Given the description of an element on the screen output the (x, y) to click on. 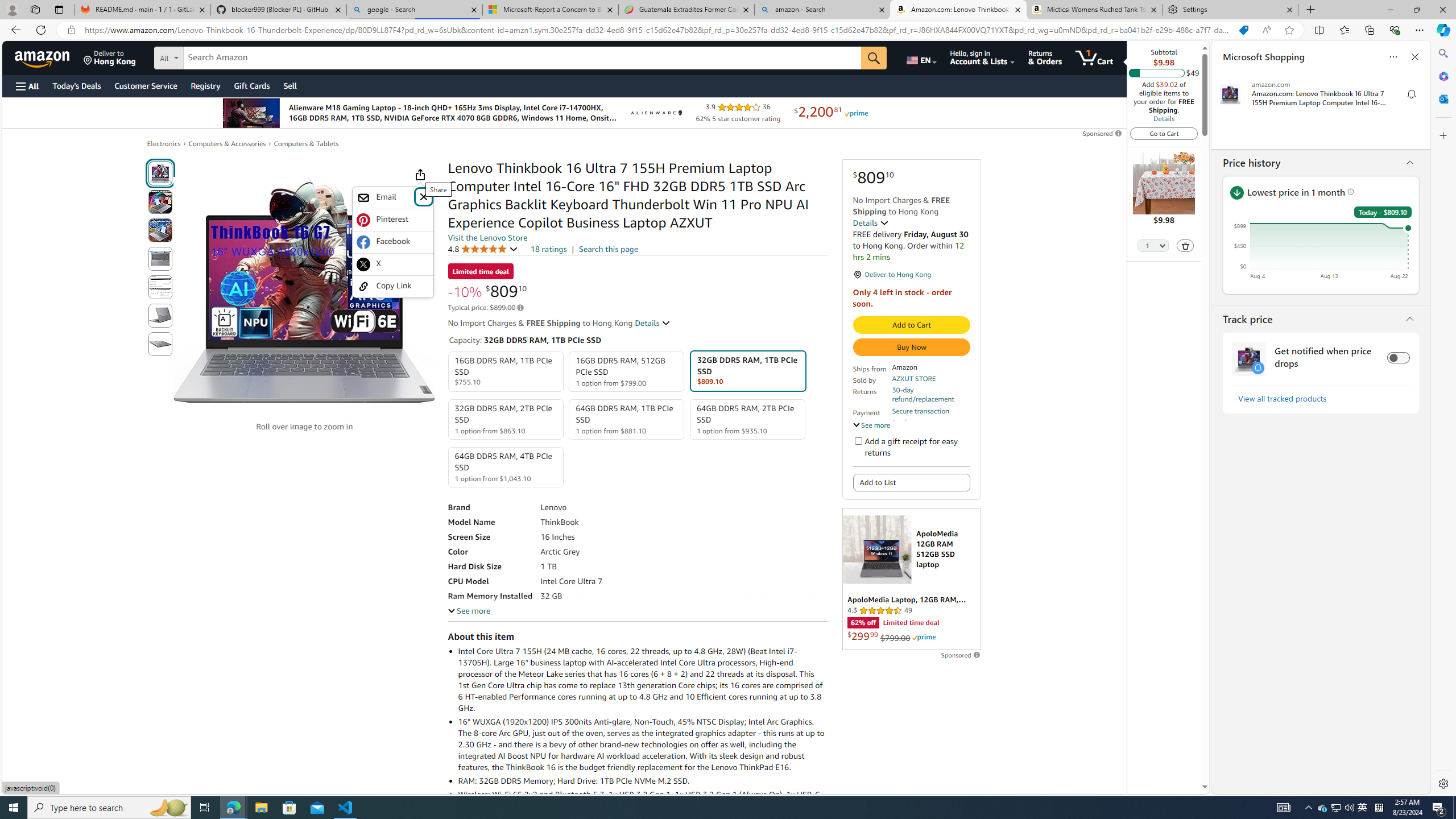
16GB DDR5 RAM, 512GB PCIe SSD 1 option from $799.00 (626, 371)
Computers & Tablets (306, 143)
Learn more about Amazon pricing and savings (520, 307)
Pinterest (392, 219)
Computers & Accessories (226, 144)
RAM: 32GB DDR5 Memory; Hard Drive: 1TB PCIe NVMe M.2 SSD. (642, 780)
Delete (1184, 245)
Go to Cart (1163, 133)
Electronics (163, 144)
